Given the description of an element on the screen output the (x, y) to click on. 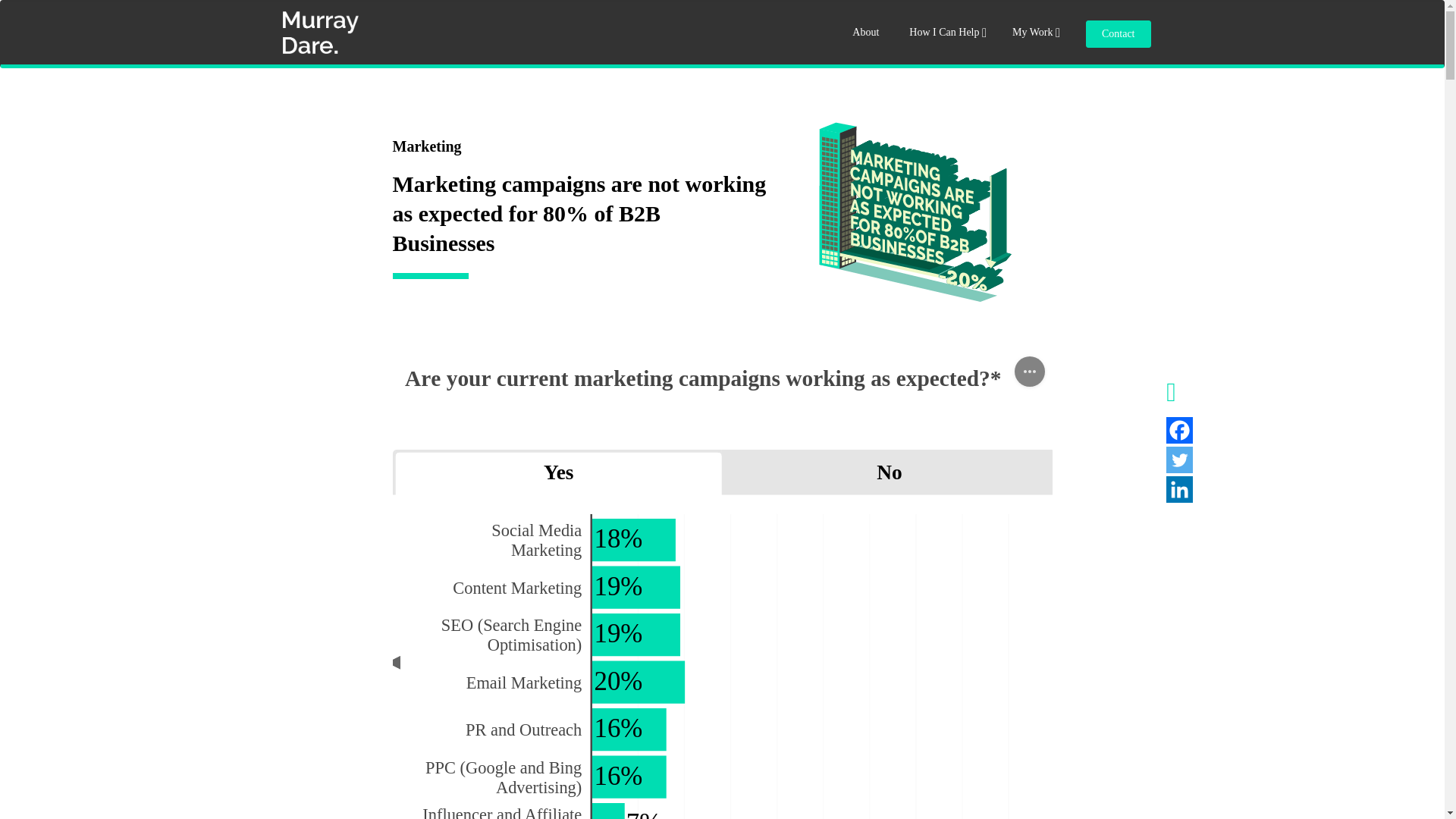
Facebook (1179, 429)
Linkedin (1179, 488)
Twitter (1179, 459)
How I Can Help (944, 32)
